Given the description of an element on the screen output the (x, y) to click on. 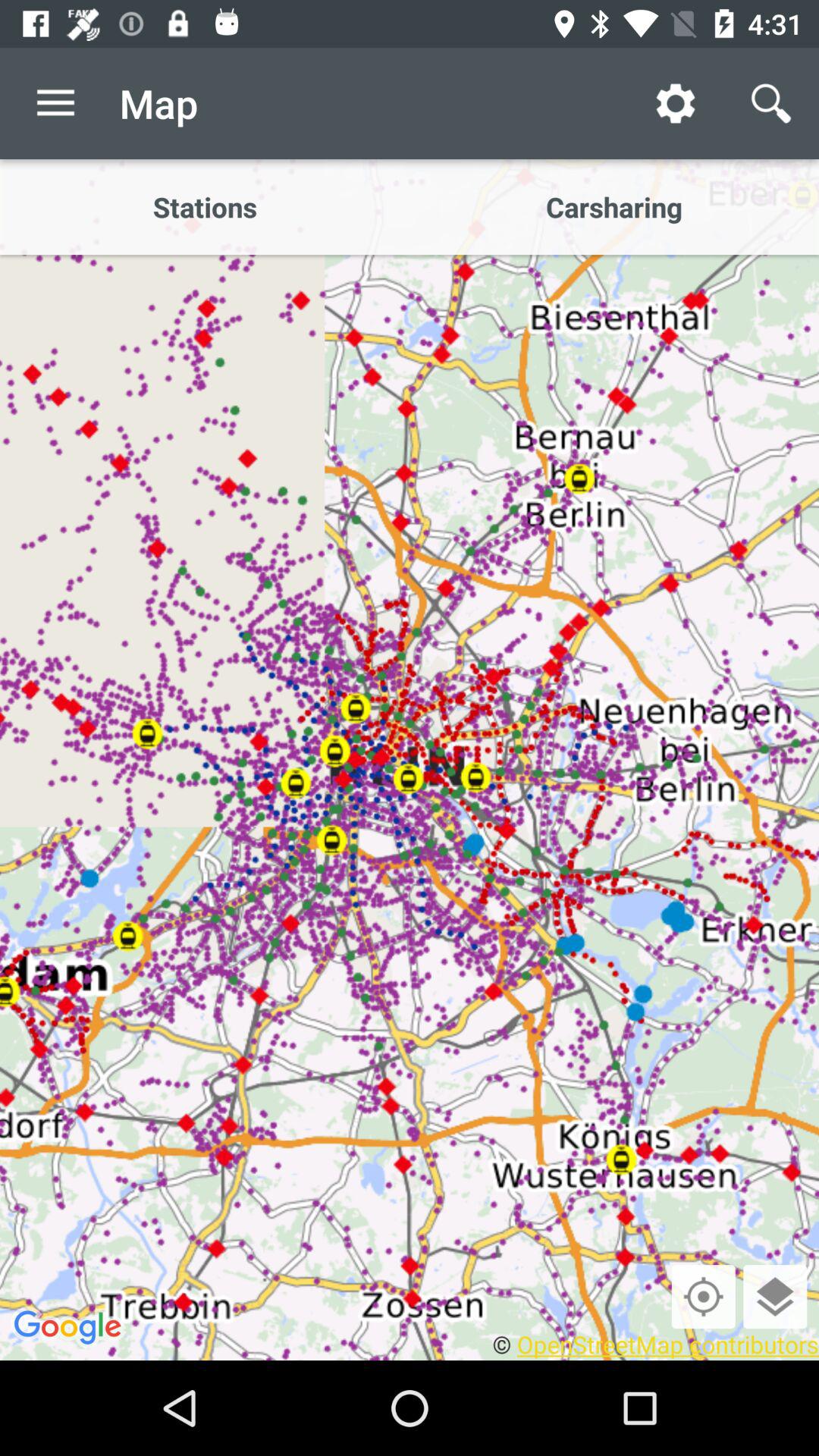
select layers (775, 1296)
